Given the description of an element on the screen output the (x, y) to click on. 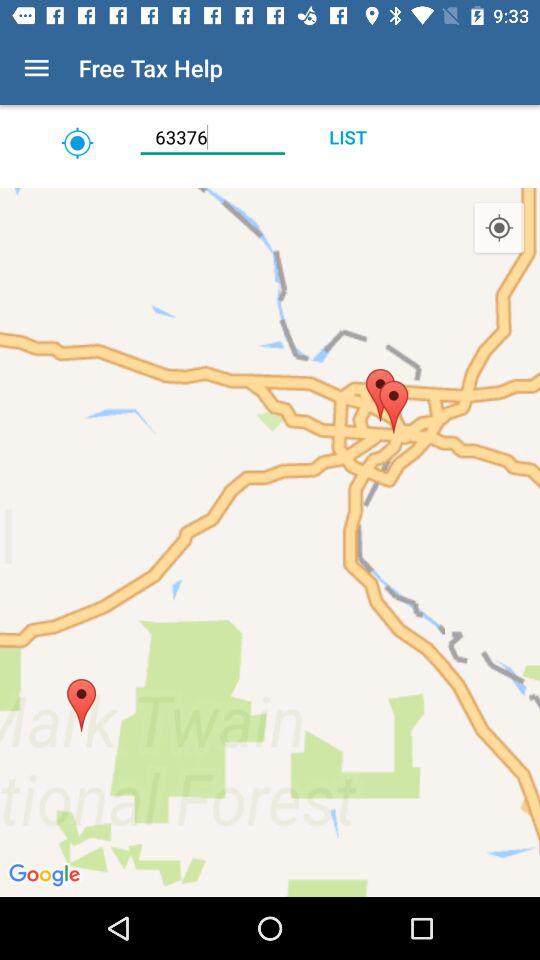
turn off icon next to the free tax help icon (36, 68)
